Given the description of an element on the screen output the (x, y) to click on. 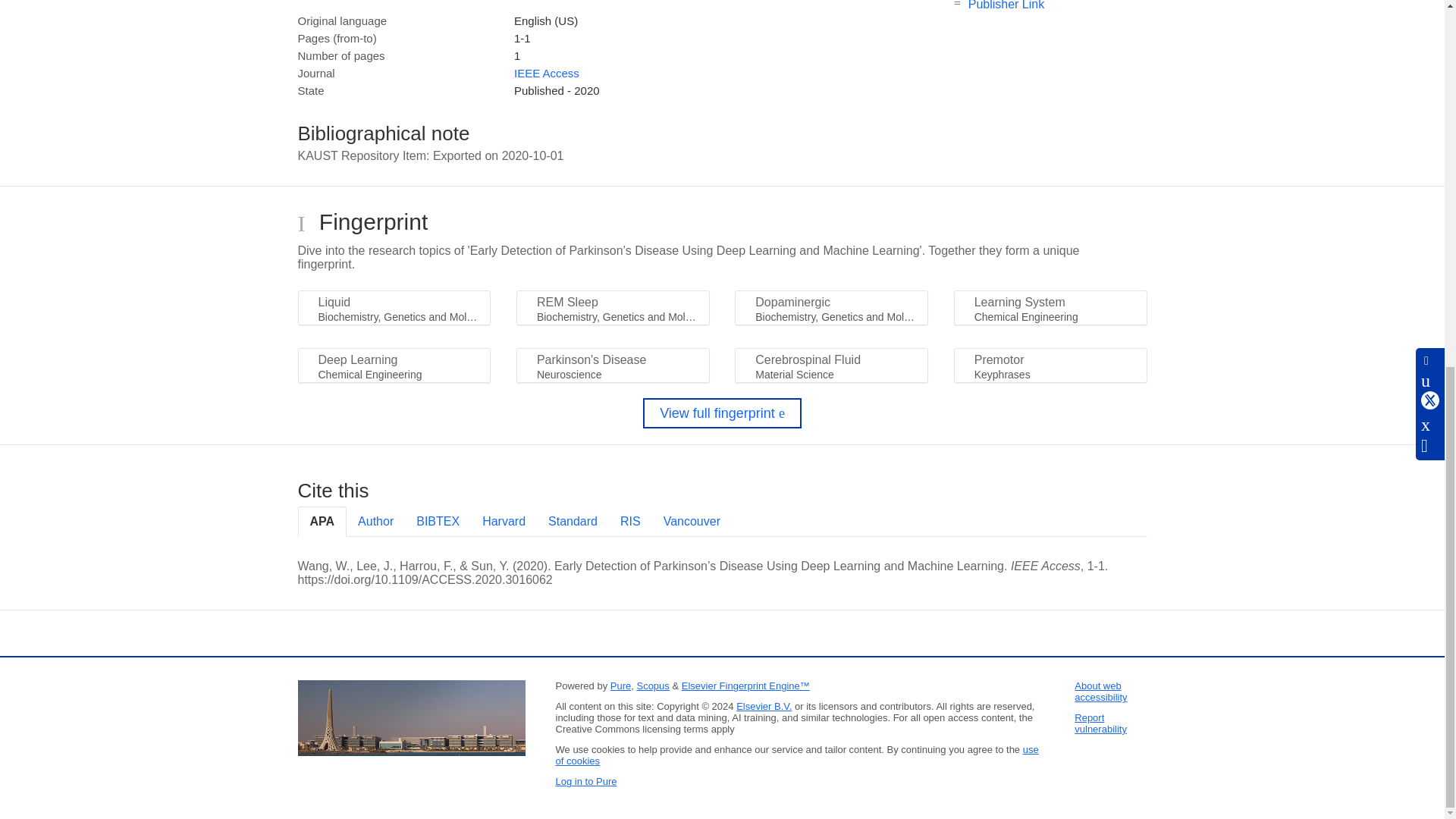
View full fingerprint (722, 413)
Publisher Link (1006, 5)
IEEE Access (546, 72)
